Given the description of an element on the screen output the (x, y) to click on. 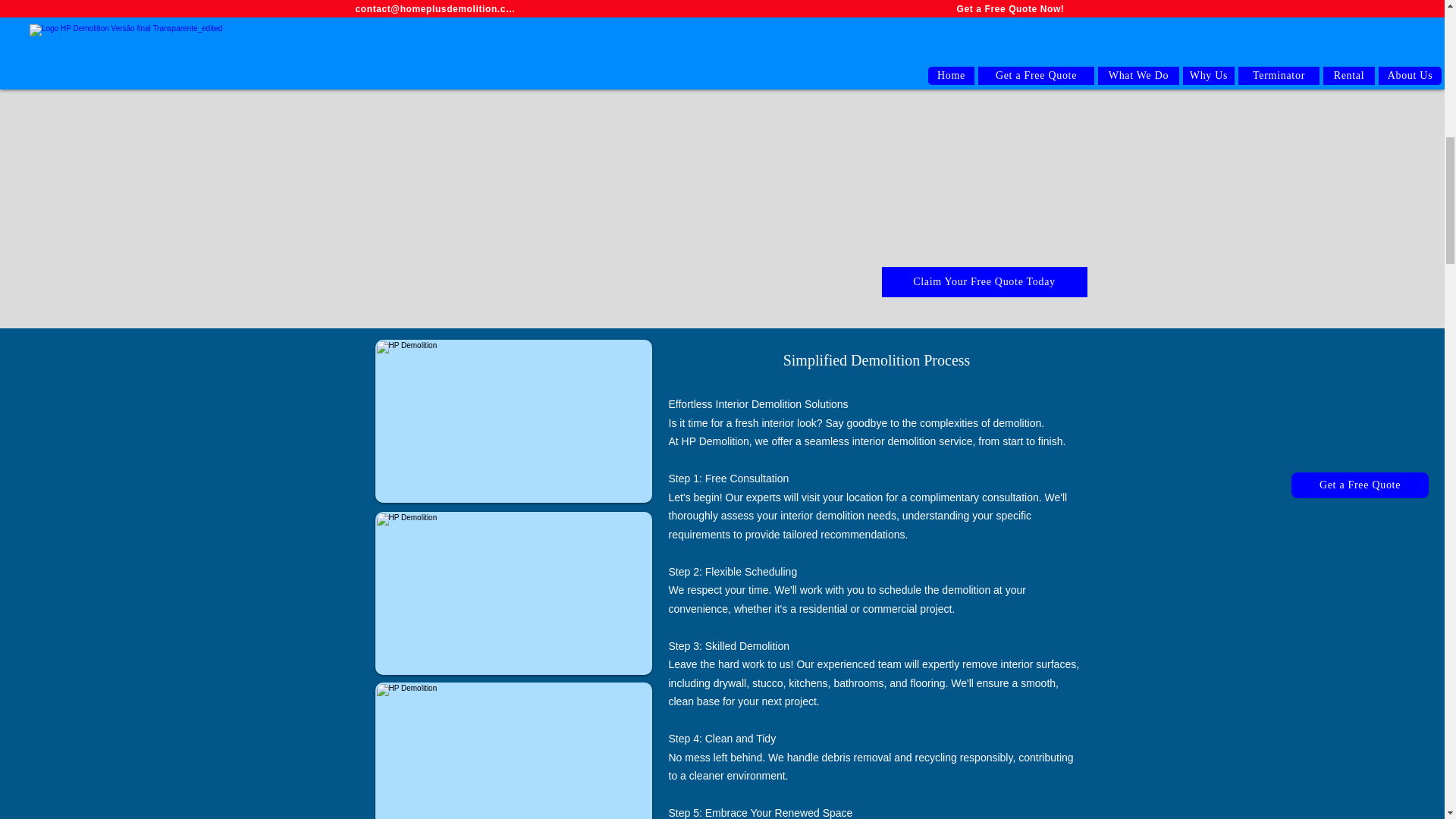
Claim Your Free Quote Today (983, 281)
